Given the description of an element on the screen output the (x, y) to click on. 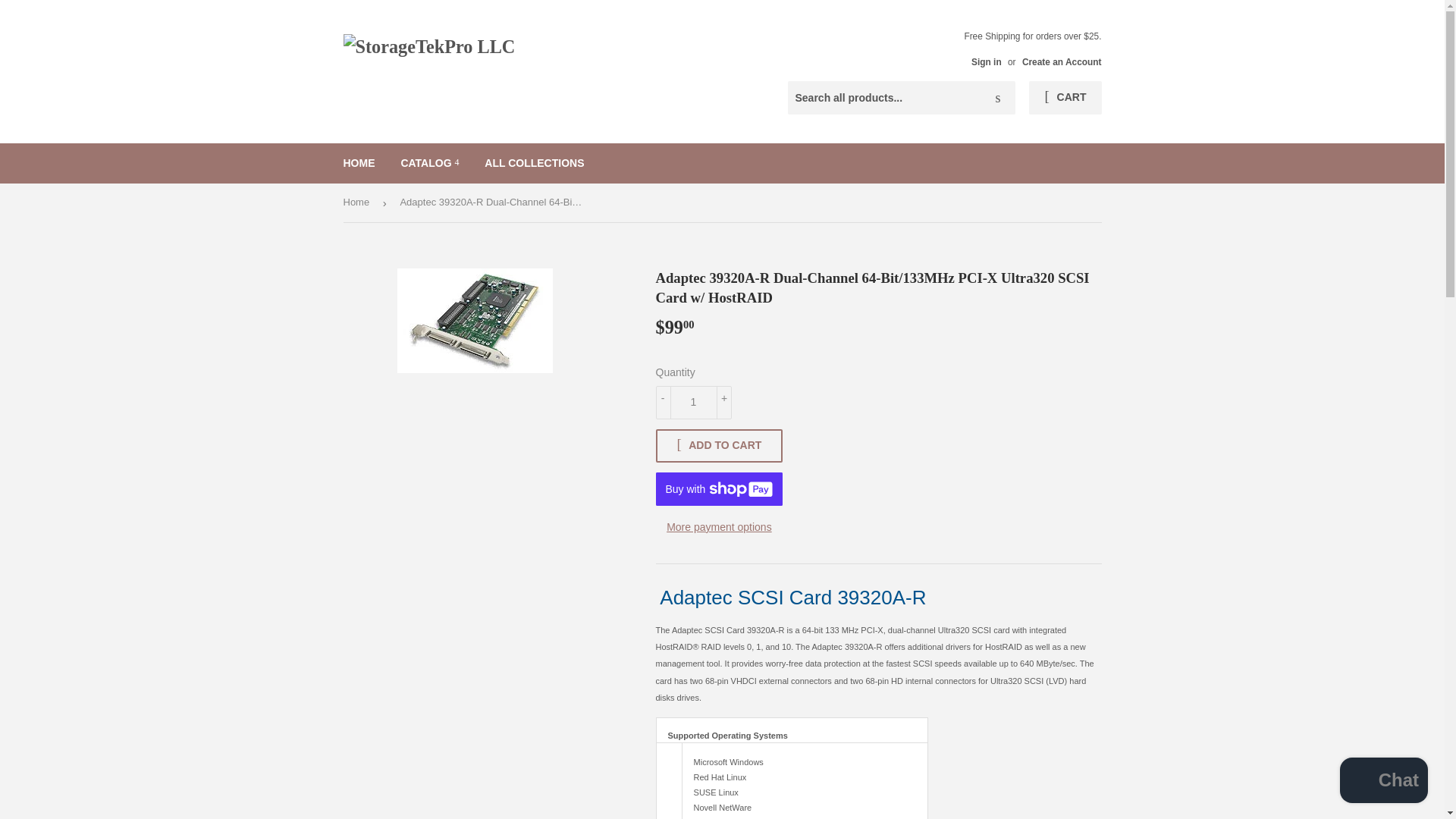
ALL COLLECTIONS (534, 162)
Create an Account (1062, 61)
Shopify online store chat (1383, 781)
CART (1064, 97)
Search (997, 98)
CATALOG (429, 162)
Sign in (986, 61)
1 (692, 402)
HOME (359, 162)
